Given the description of an element on the screen output the (x, y) to click on. 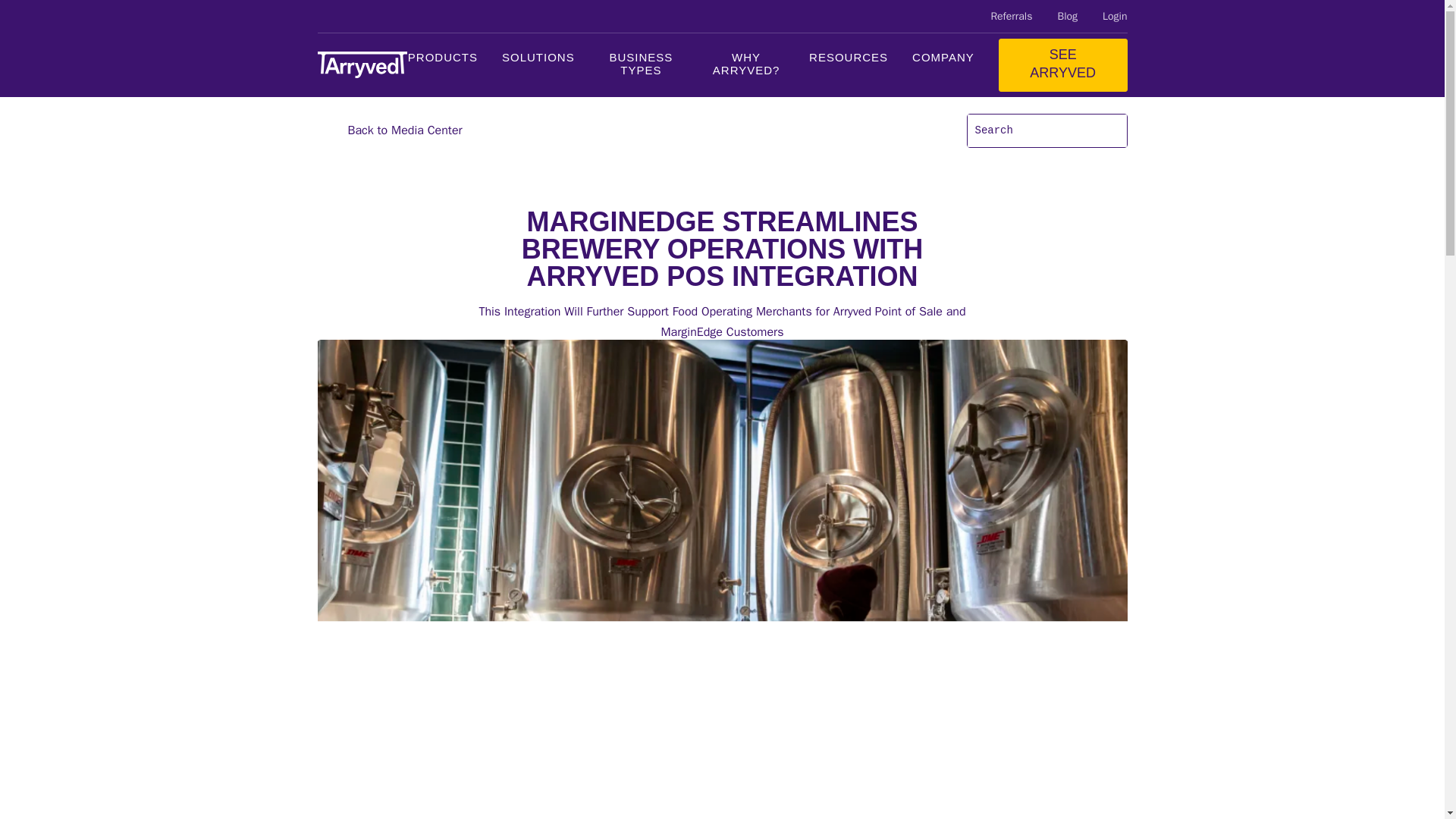
SOLUTIONS (538, 65)
Referrals (1011, 15)
PRODUCTS (442, 65)
WHY ARRYVED? (745, 65)
Login (1114, 15)
COMPANY (943, 65)
Blog (1067, 15)
RESOURCES (848, 65)
BUSINESS TYPES (641, 65)
